Given the description of an element on the screen output the (x, y) to click on. 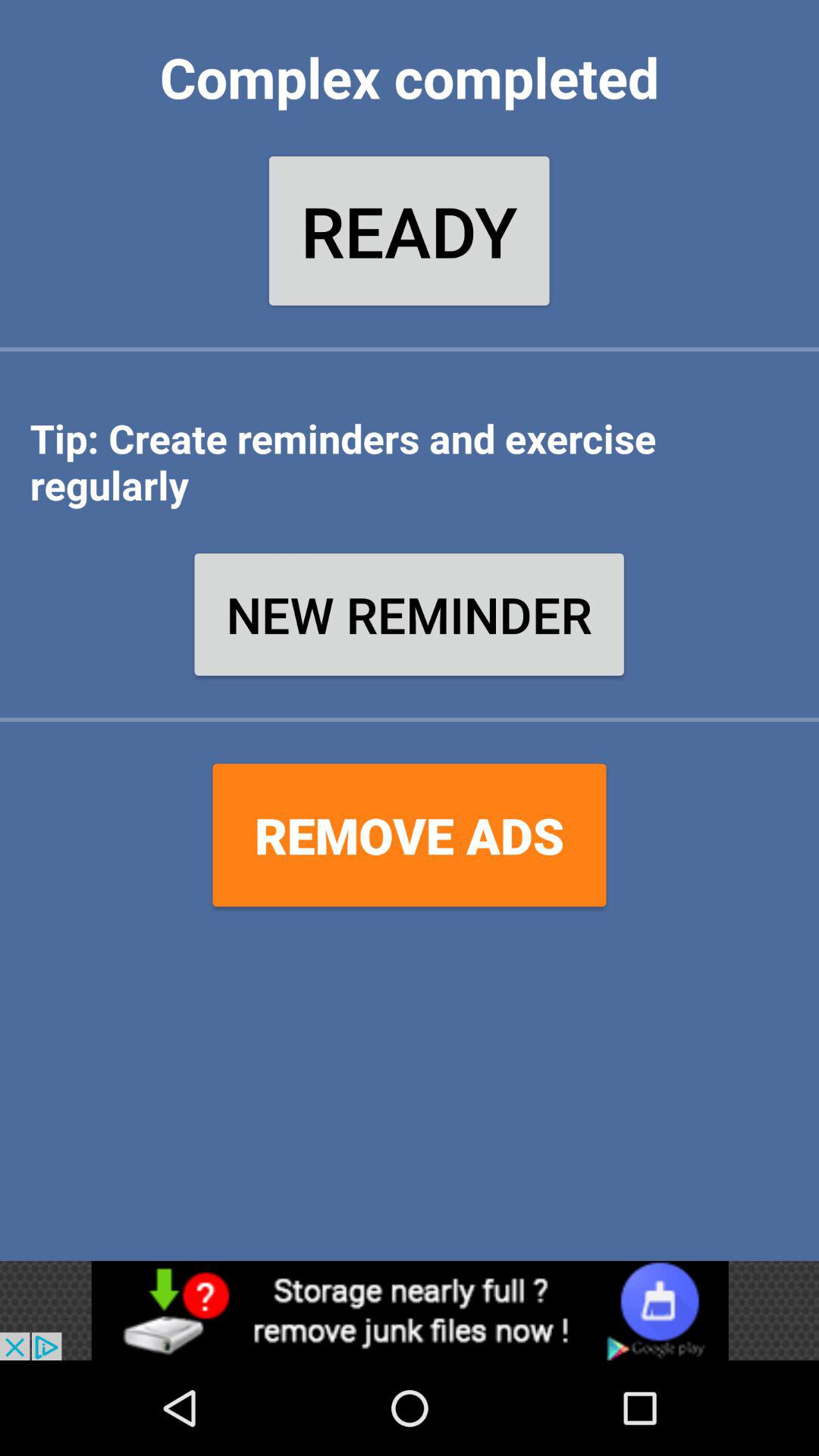
view advertisement (409, 1310)
